Given the description of an element on the screen output the (x, y) to click on. 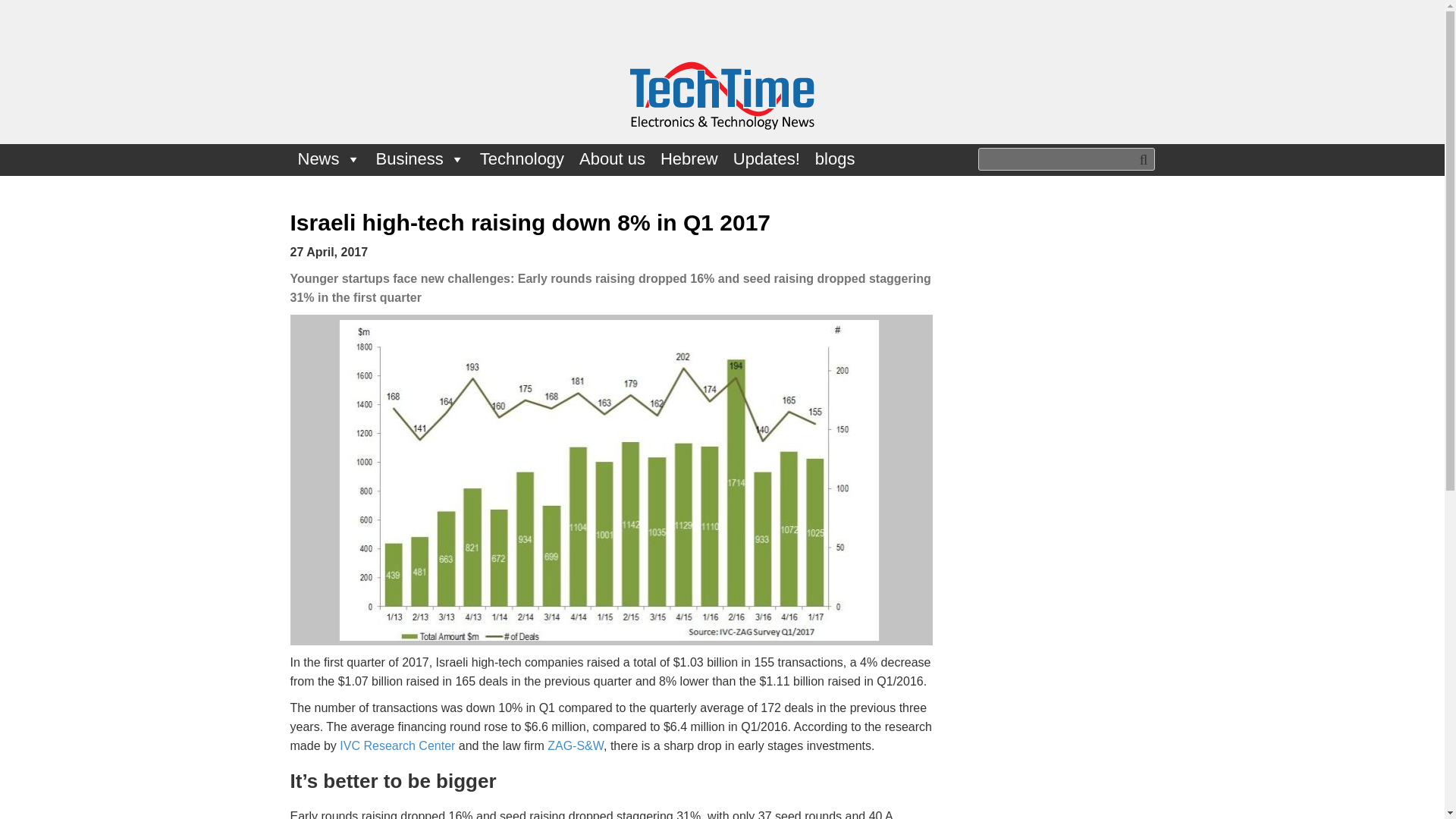
About us (612, 159)
News (328, 159)
Business (419, 159)
Hebrew (688, 159)
Technology (521, 159)
blogs (835, 159)
Updates! (766, 159)
